Given the description of an element on the screen output the (x, y) to click on. 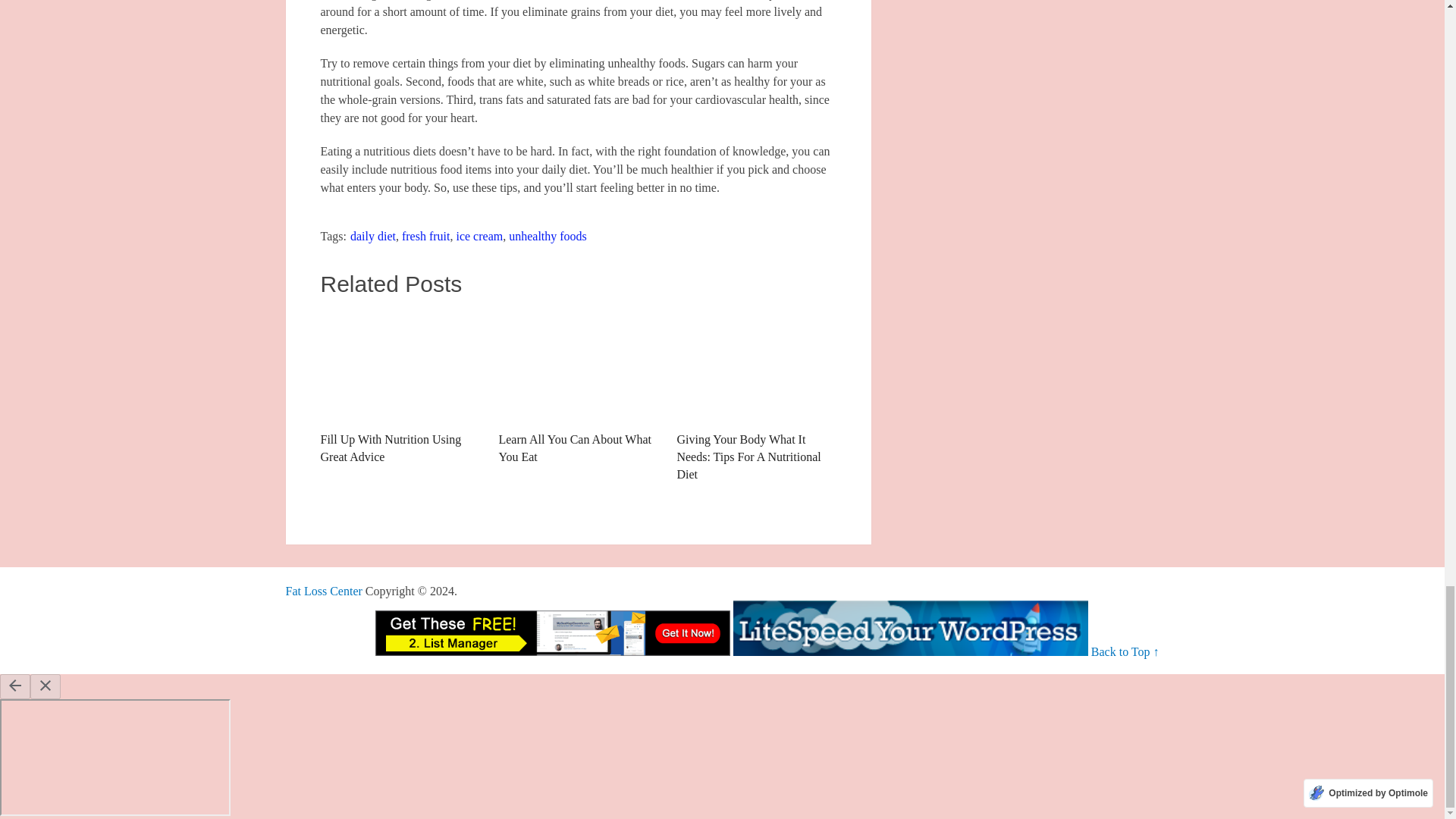
ice cream (478, 236)
Giving Your Body What It Needs: Tips For A Nutritional Diet (756, 396)
Learn All You Can About What You Eat (577, 387)
Fill Up With Nutrition Using Great Advice (399, 387)
unhealthy foods (547, 236)
daily diet (373, 236)
Fat Loss Center (323, 590)
fresh fruit (425, 236)
